Given the description of an element on the screen output the (x, y) to click on. 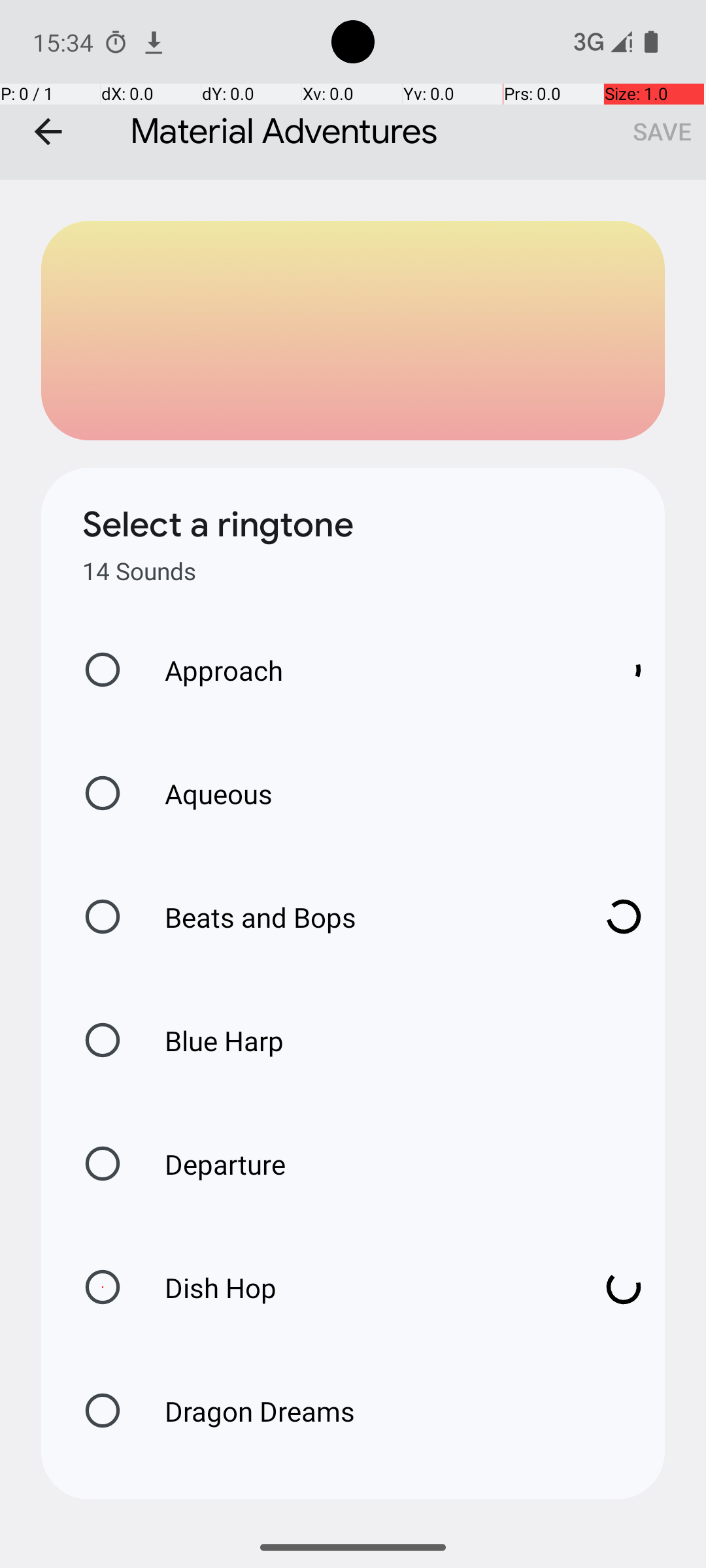
14 Sounds Element type: android.widget.TextView (139, 570)
Approach Element type: android.widget.TextView (359, 669)
Download in progress Element type: android.widget.ImageView (623, 669)
Aqueous Element type: android.widget.TextView (204, 793)
Beats and Bops Element type: android.widget.TextView (359, 916)
Blue Harp Element type: android.widget.TextView (210, 1040)
Departure Element type: android.widget.TextView (211, 1163)
Dish Hop Element type: android.widget.TextView (359, 1287)
Dragon Dreams Element type: android.widget.TextView (245, 1410)
